Given the description of an element on the screen output the (x, y) to click on. 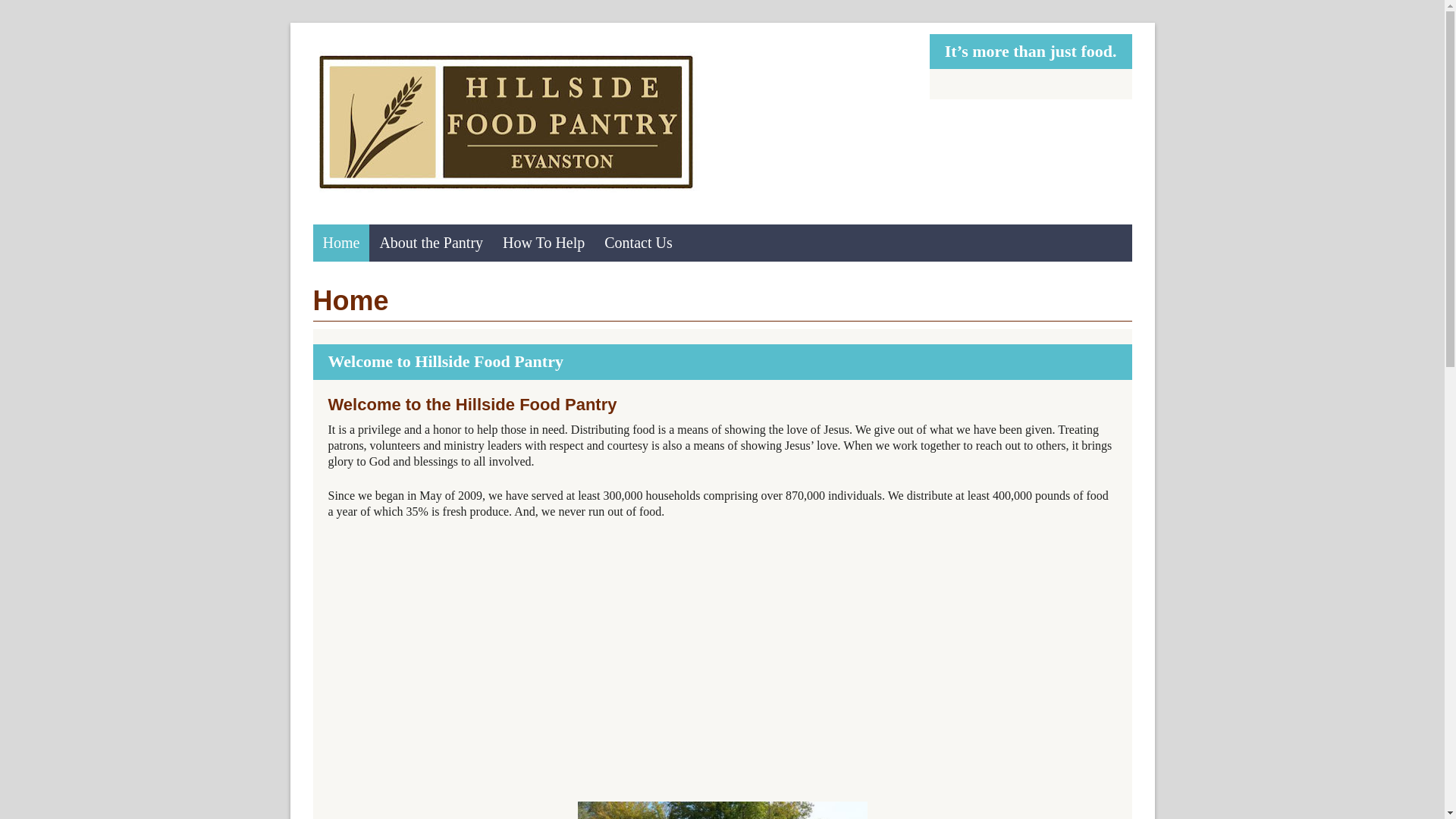
Home (341, 242)
Contact Us (637, 242)
How To Help (543, 242)
About the Pantry (431, 242)
